Given the description of an element on the screen output the (x, y) to click on. 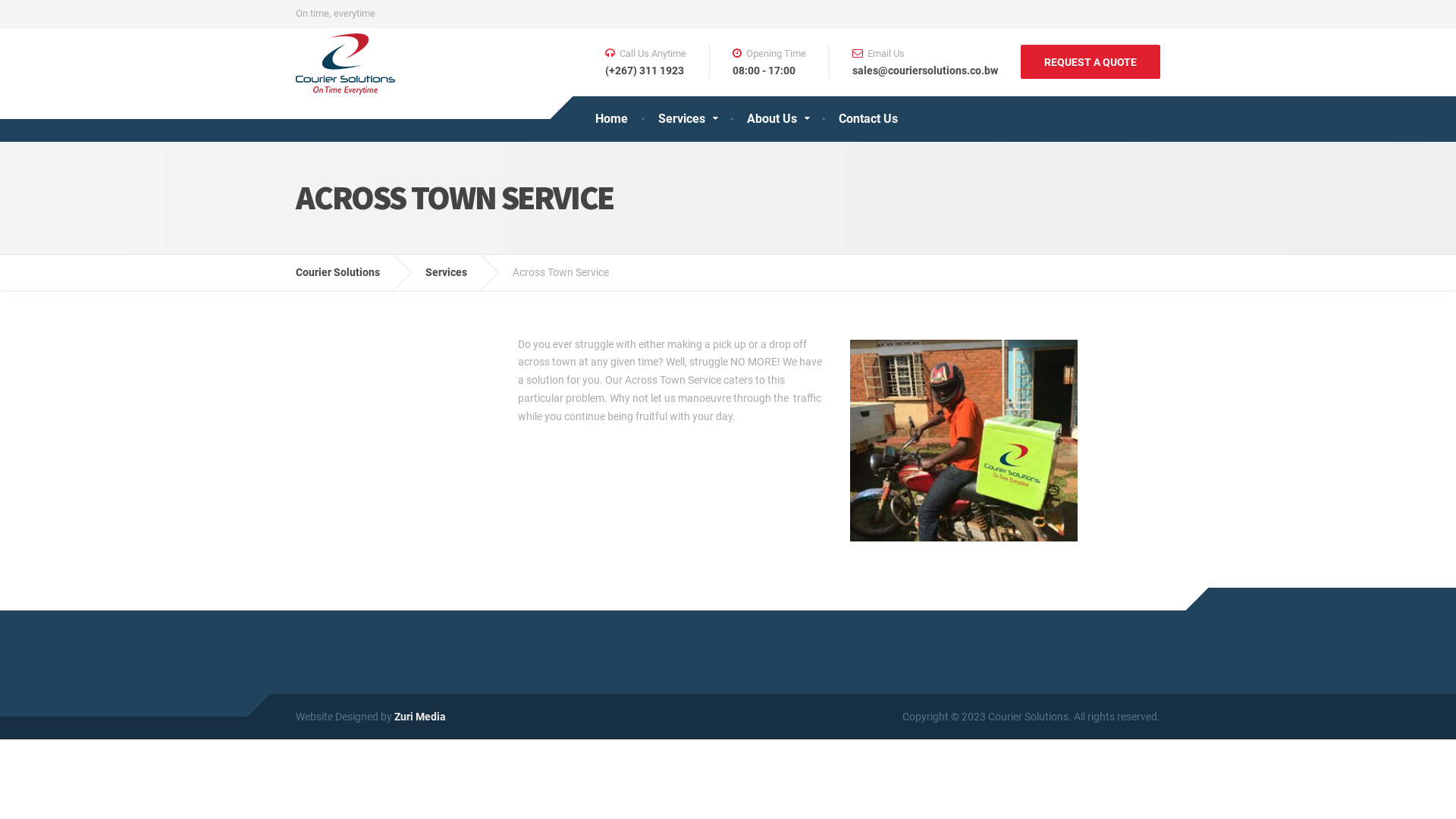
Services Element type: text (457, 271)
About Us Element type: text (777, 118)
REQUEST A QUOTE Element type: text (1090, 61)
Courier Solutions Element type: text (348, 271)
Contact Us Element type: text (868, 118)
Zuri Media Element type: text (419, 716)
Services Element type: text (687, 118)
Home Element type: text (611, 118)
Email Us
sales@couriersolutions.co.bw Element type: text (912, 61)
